Given the description of an element on the screen output the (x, y) to click on. 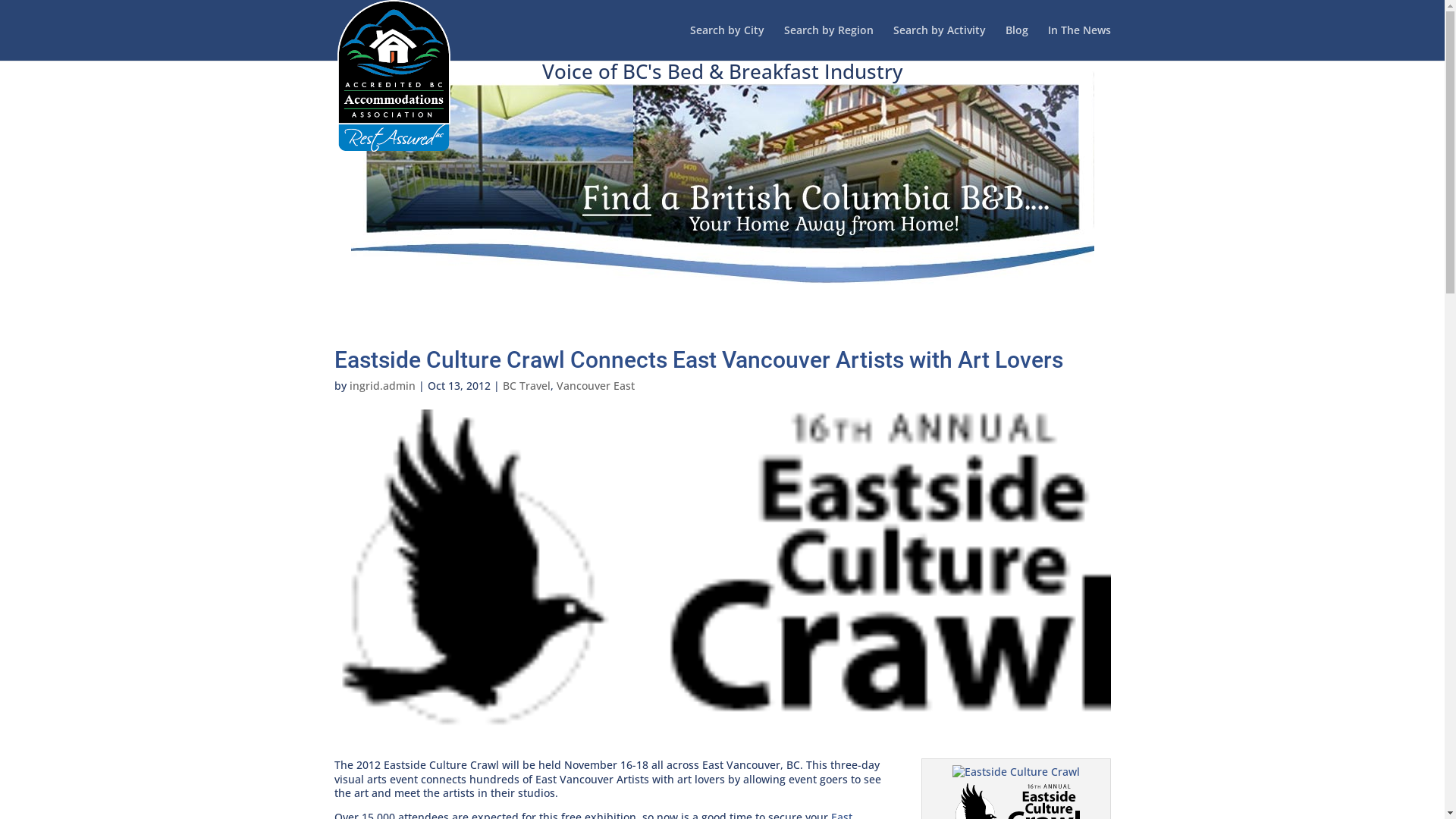
Blog Element type: text (1016, 42)
Search by Region Element type: text (828, 42)
ingrid.admin Element type: text (381, 385)
Red Iron 03 Element type: hover (1015, 771)
Search by Activity Element type: text (939, 42)
Vancouver East Element type: text (595, 385)
Search by City Element type: text (727, 42)
BC Travel Element type: text (525, 385)
In The News Element type: text (1079, 42)
